Given the description of an element on the screen output the (x, y) to click on. 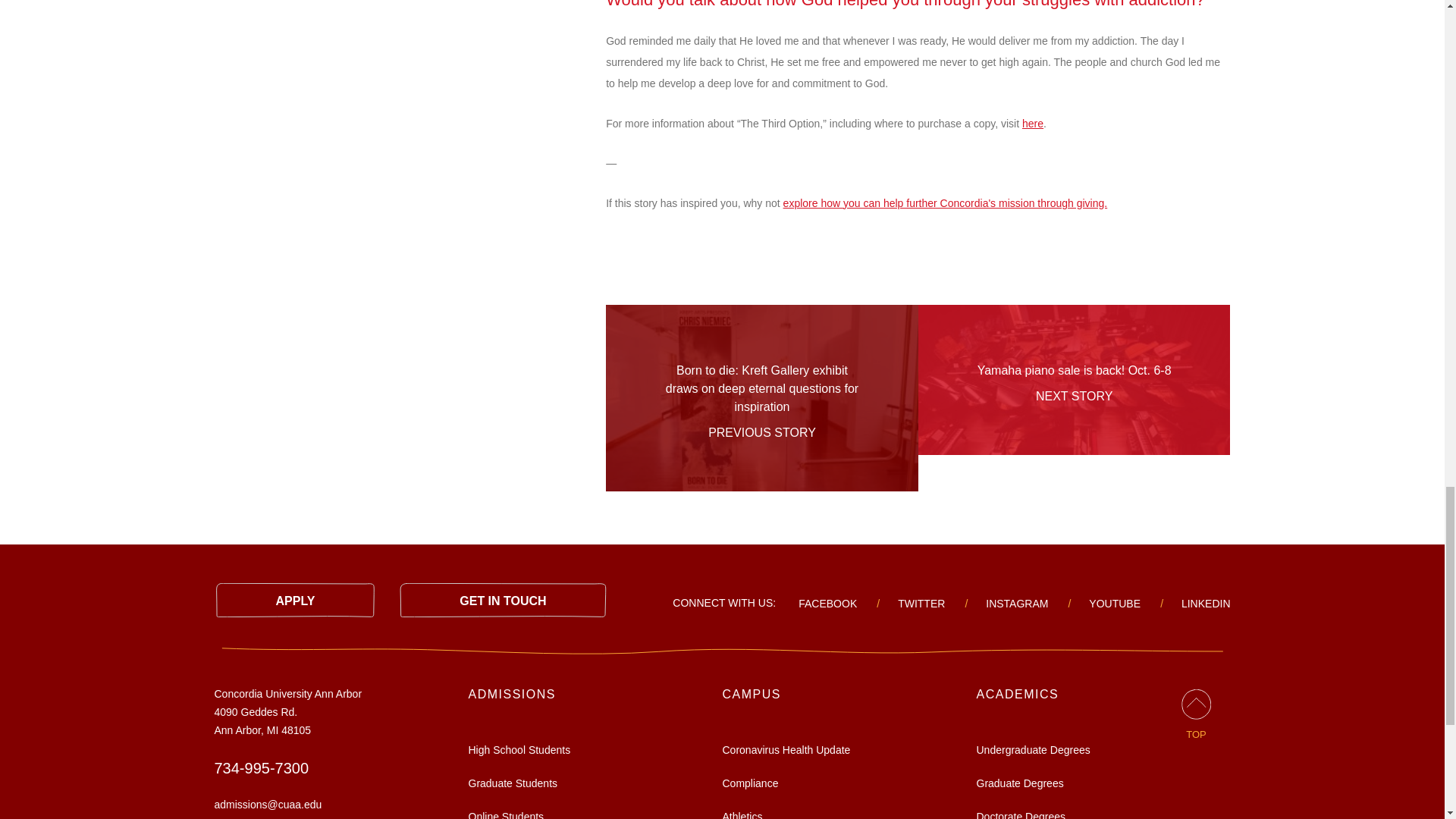
TOP (1195, 715)
here (1032, 123)
Learn more about areas of compliance at CUAA (749, 783)
